Given the description of an element on the screen output the (x, y) to click on. 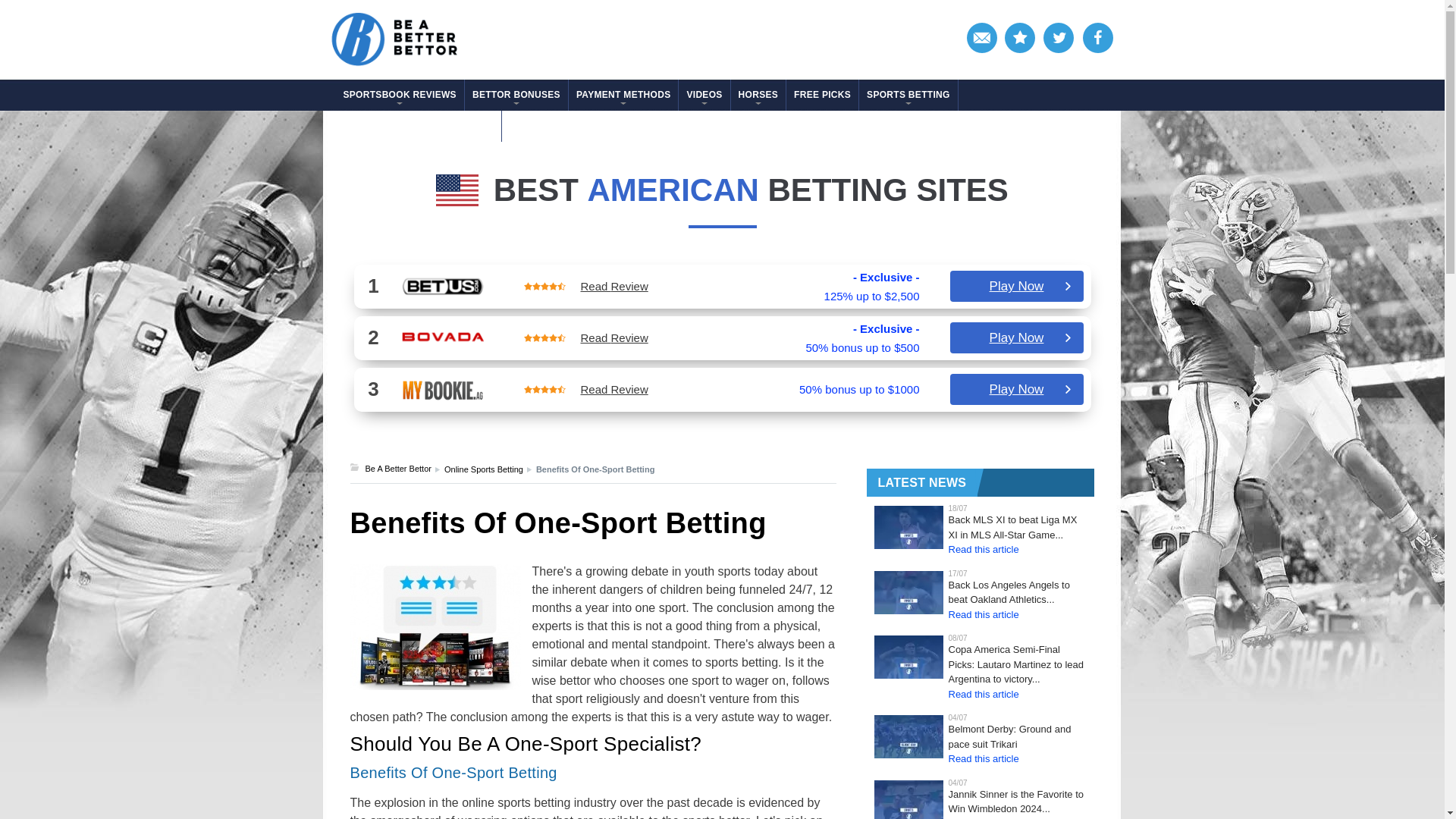
BetUS (442, 286)
mail (982, 38)
PAYMENT METHODS (623, 94)
facebook (1097, 38)
BETTOR BONUSES (515, 94)
twitter (1059, 38)
SPORTSBOOK REVIEWS (398, 94)
MyBookie (442, 389)
VIDEOS (703, 94)
Bovada (442, 337)
favorites (1020, 38)
